Given the description of an element on the screen output the (x, y) to click on. 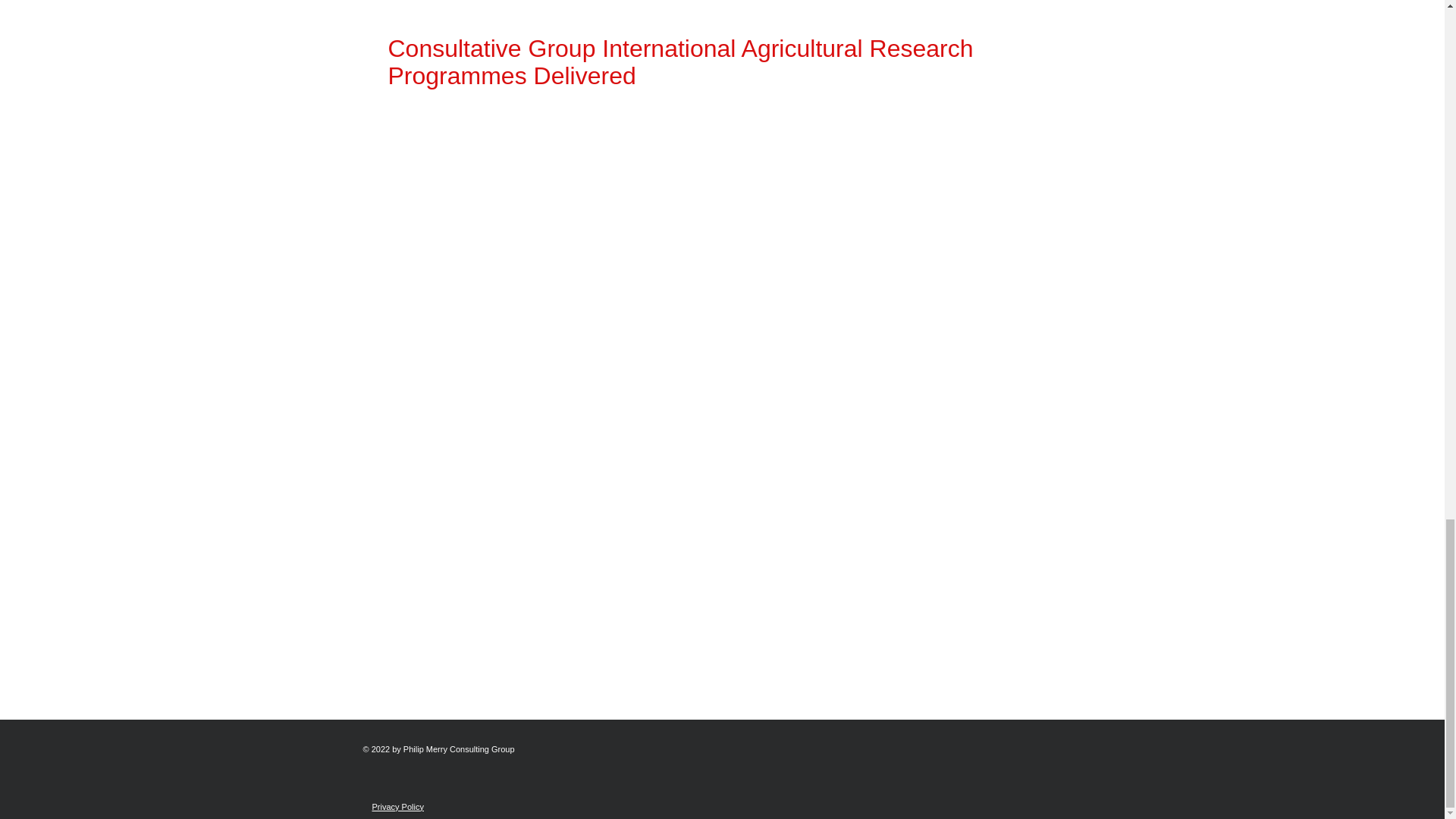
Privacy Policy (397, 806)
